Given the description of an element on the screen output the (x, y) to click on. 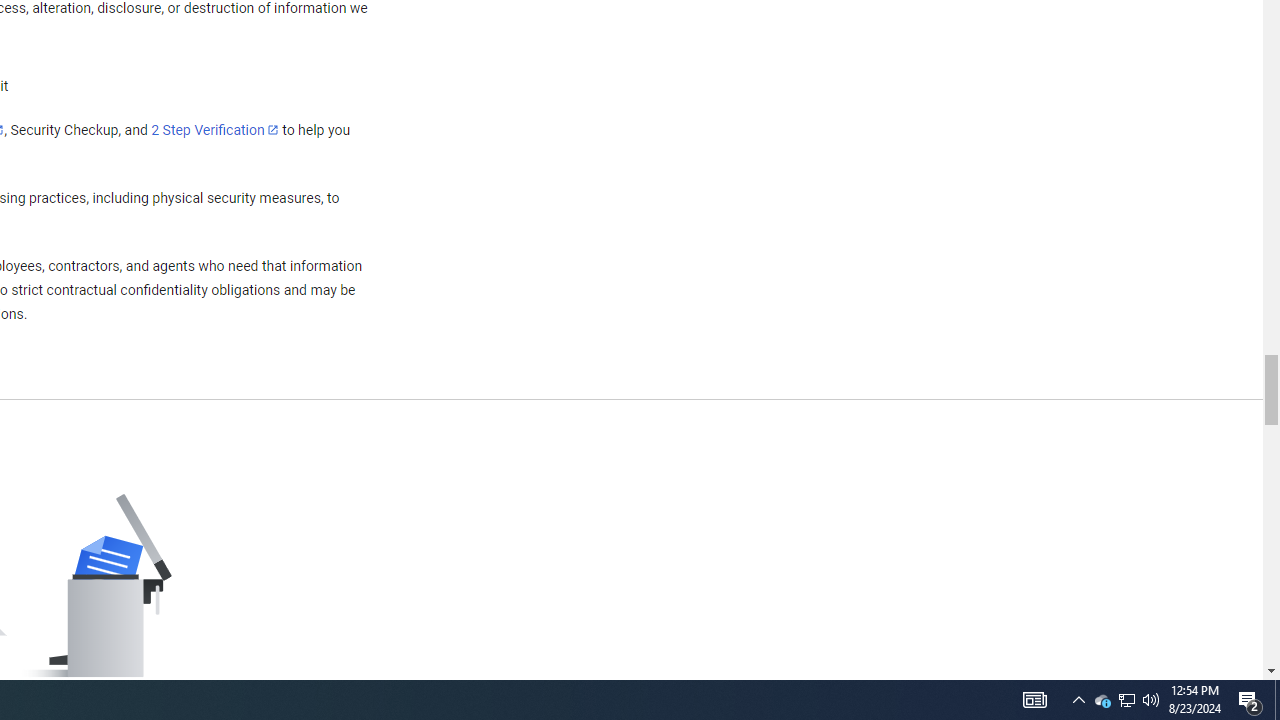
2 Step Verification (215, 129)
